Given the description of an element on the screen output the (x, y) to click on. 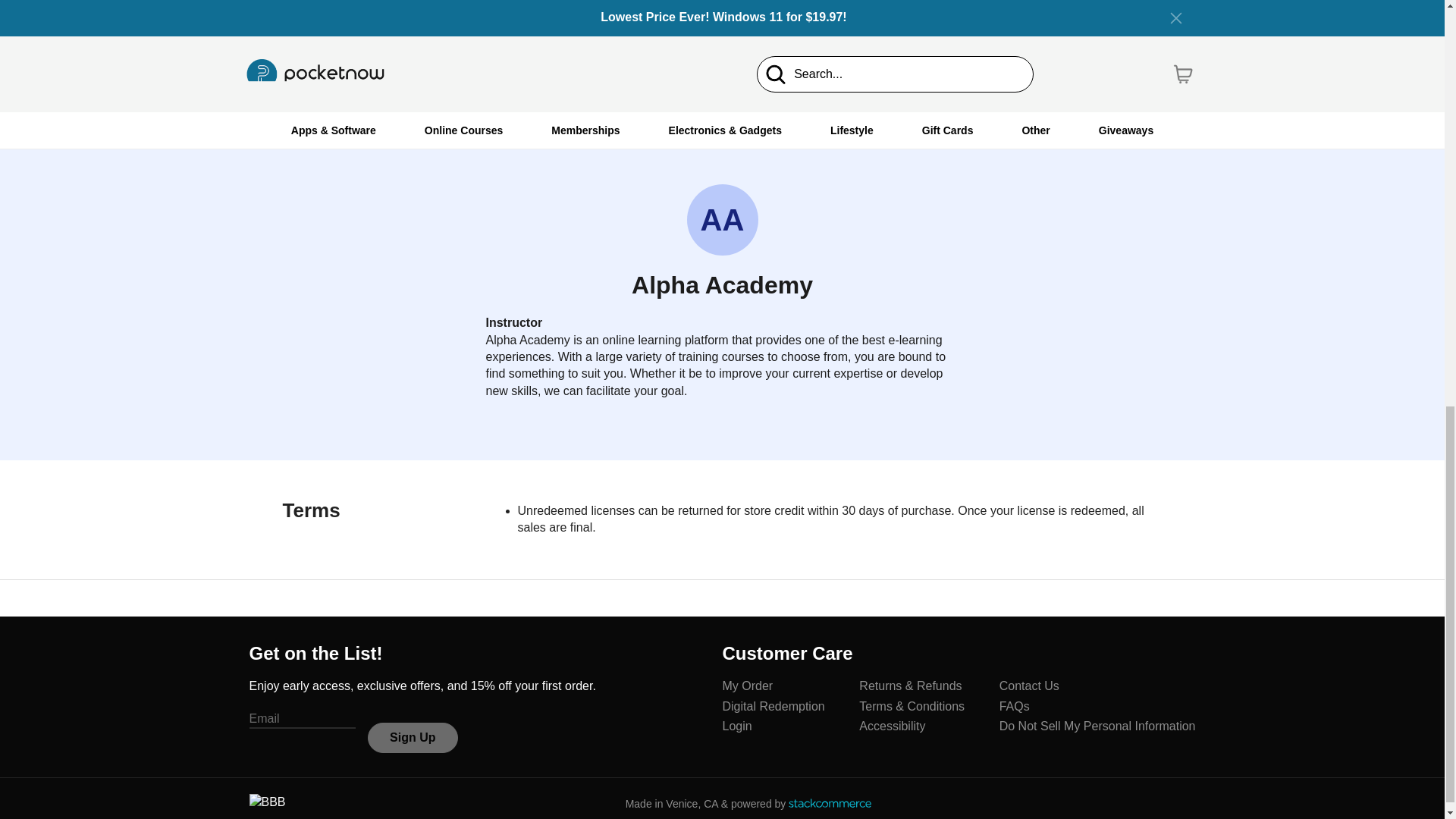
StackCommerce (829, 802)
